Given the description of an element on the screen output the (x, y) to click on. 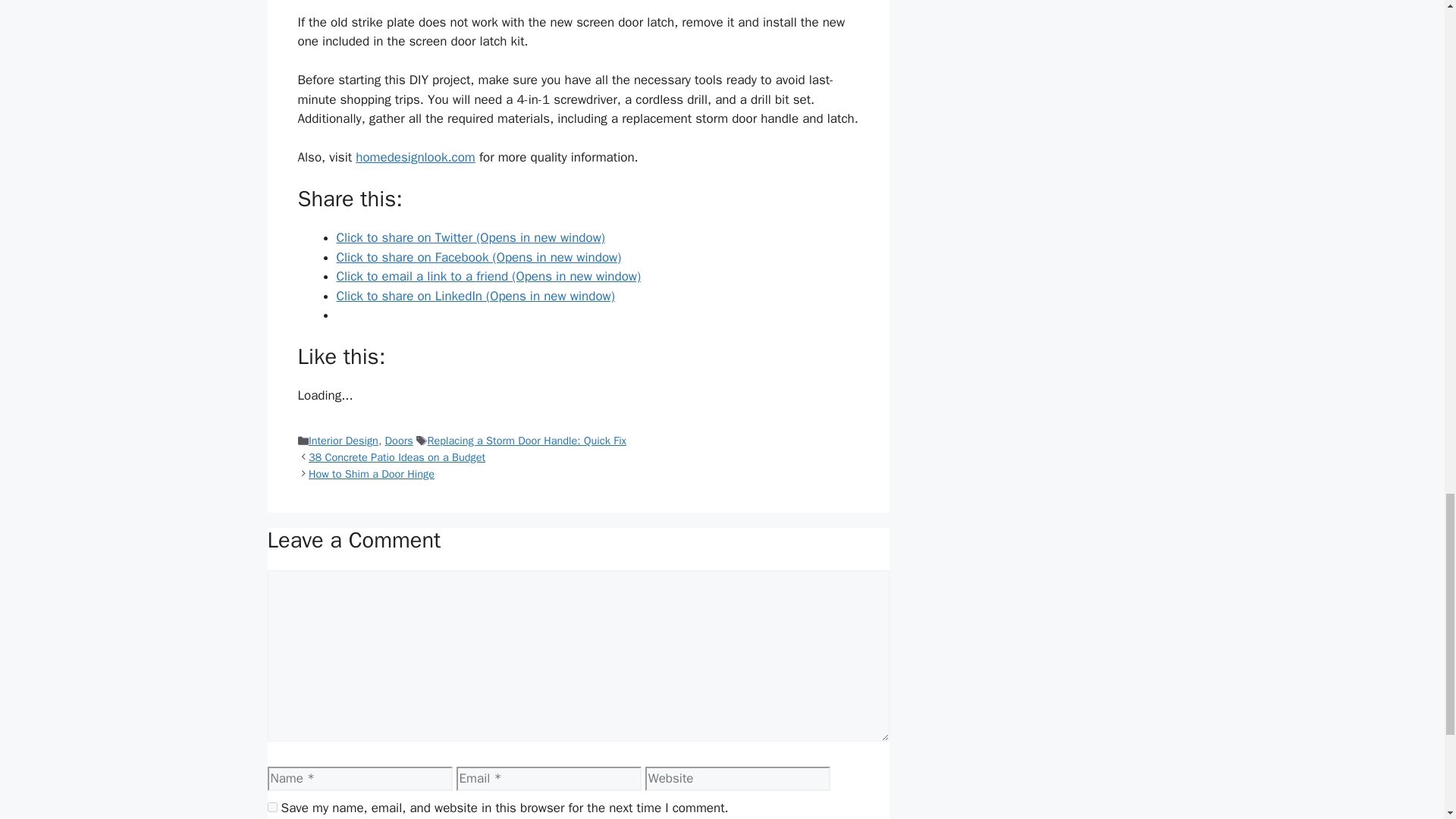
Click to email a link to a friend (489, 276)
Click to share on Facebook (478, 257)
Click to share on Twitter (470, 237)
yes (271, 807)
Click to share on LinkedIn (475, 295)
